Given the description of an element on the screen output the (x, y) to click on. 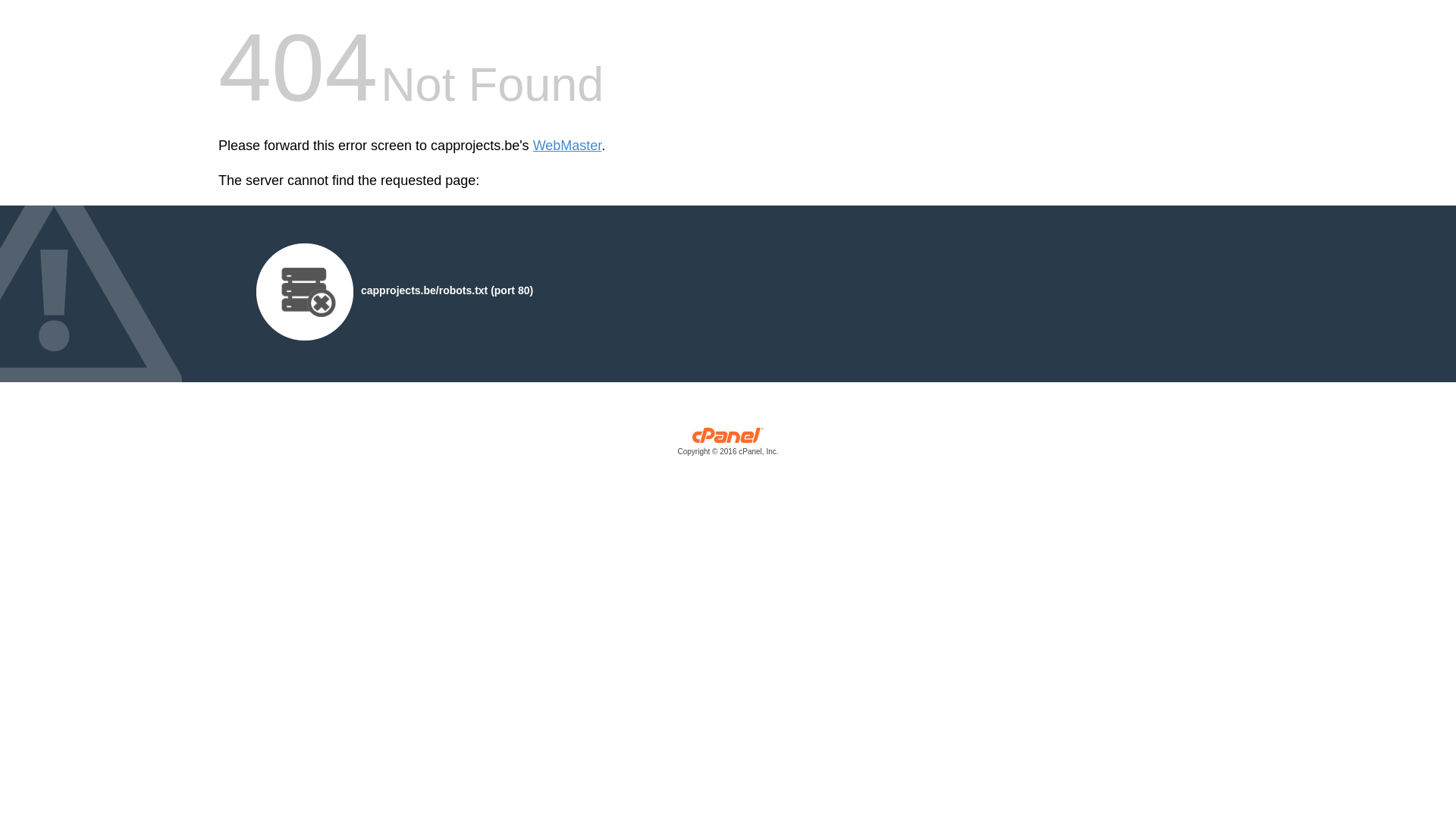
WebMaster Element type: text (567, 145)
